Given the description of an element on the screen output the (x, y) to click on. 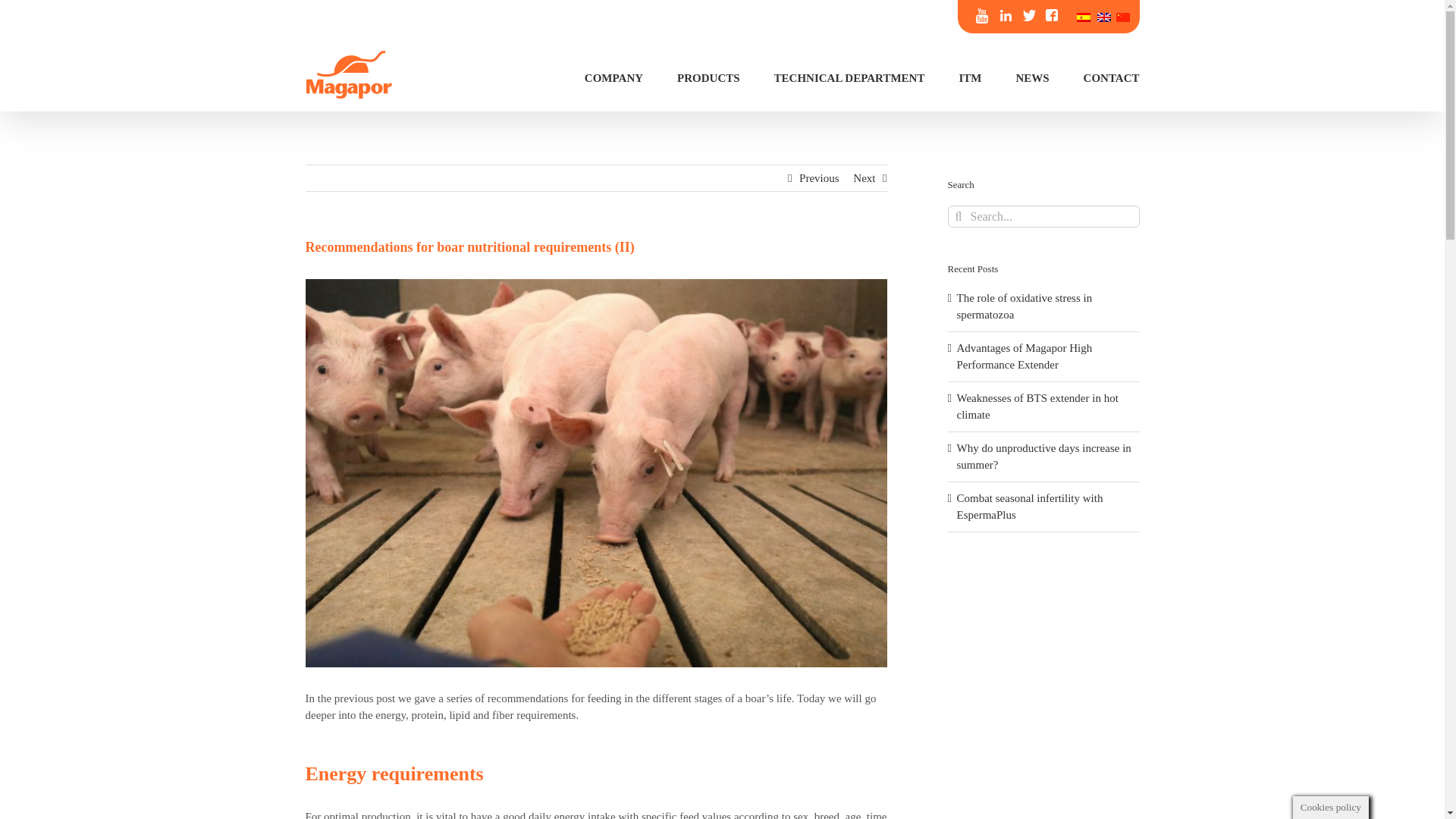
PRODUCTS (708, 76)
CONTACT (1111, 76)
COMPANY (614, 76)
NEWS (1031, 76)
ITM (969, 76)
TECHNICAL DEPARTMENT (849, 76)
